Given the description of an element on the screen output the (x, y) to click on. 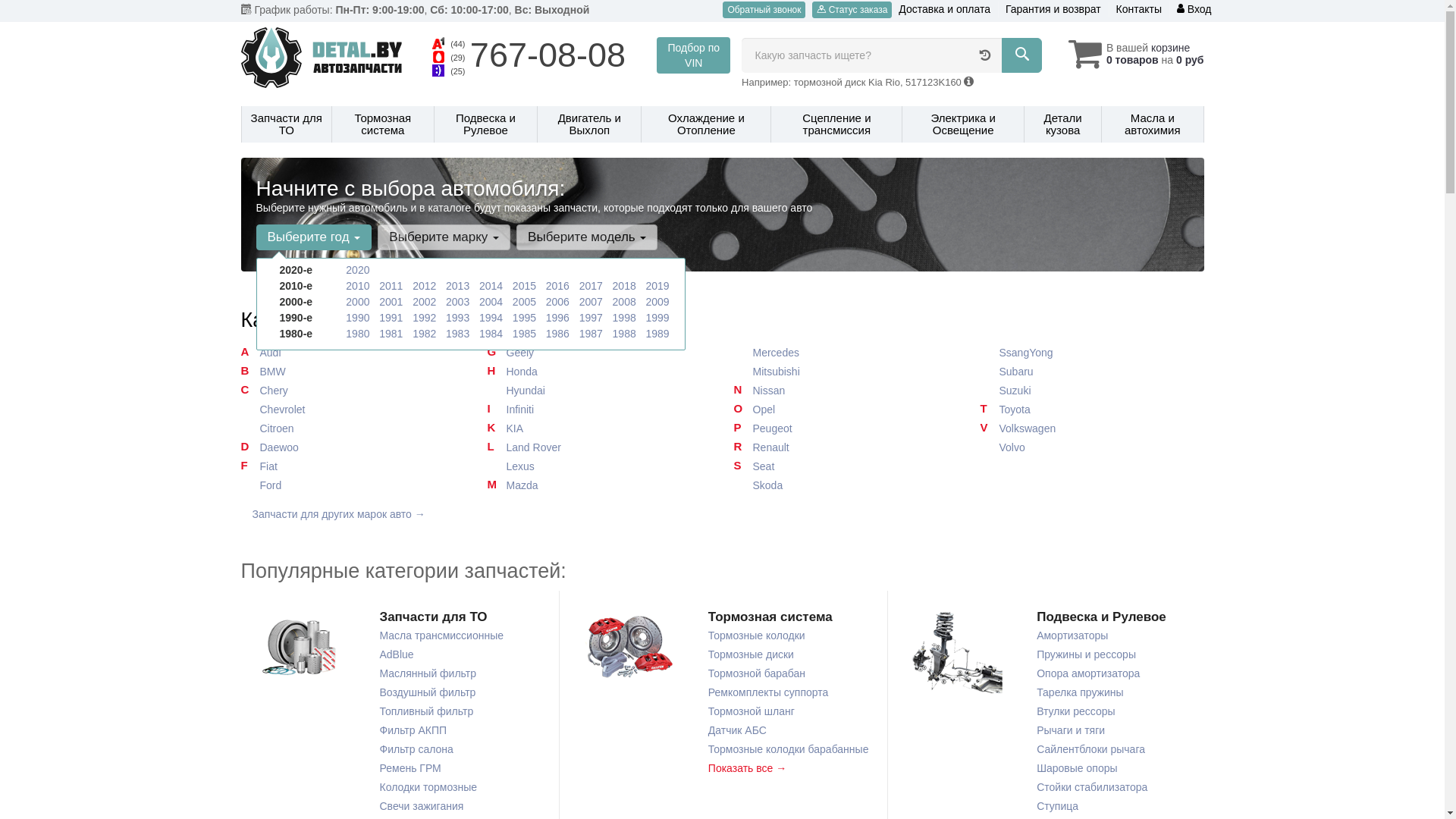
2013 Element type: text (457, 285)
2009 Element type: text (656, 301)
2010 Element type: text (357, 285)
Audi Element type: text (352, 352)
767-08-08 Element type: text (547, 54)
1999 Element type: text (656, 317)
AdBlue Element type: text (396, 654)
Citroen Element type: text (352, 428)
1991 Element type: text (390, 317)
Honda Element type: text (598, 371)
Geely Element type: text (598, 352)
1995 Element type: text (524, 317)
Infiniti Element type: text (598, 409)
BMW Element type: text (352, 371)
1990 Element type: text (357, 317)
1998 Element type: text (624, 317)
2014 Element type: text (490, 285)
2002 Element type: text (424, 301)
2017 Element type: text (590, 285)
Mitsubishi Element type: text (845, 371)
2019 Element type: text (656, 285)
2016 Element type: text (557, 285)
Volkswagen Element type: text (1091, 428)
1982 Element type: text (424, 333)
2006 Element type: text (557, 301)
Skoda Element type: text (845, 485)
Mazda Element type: text (598, 485)
2003 Element type: text (457, 301)
2000 Element type: text (357, 301)
Fiat Element type: text (352, 466)
Opel Element type: text (845, 409)
Hyundai Element type: text (598, 390)
2001 Element type: text (390, 301)
1983 Element type: text (457, 333)
1988 Element type: text (624, 333)
2007 Element type: text (590, 301)
2004 Element type: text (490, 301)
Renault Element type: text (845, 447)
1981 Element type: text (390, 333)
Suzuki Element type: text (1091, 390)
Nissan Element type: text (845, 390)
2008 Element type: text (624, 301)
1992 Element type: text (424, 317)
2015 Element type: text (524, 285)
1984 Element type: text (490, 333)
1986 Element type: text (557, 333)
1987 Element type: text (590, 333)
Volvo Element type: text (1091, 447)
1989 Element type: text (656, 333)
Lexus Element type: text (598, 466)
Mercedes Element type: text (845, 352)
1996 Element type: text (557, 317)
2011 Element type: text (390, 285)
2012 Element type: text (424, 285)
2018 Element type: text (624, 285)
Peugeot Element type: text (845, 428)
Seat Element type: text (845, 466)
1993 Element type: text (457, 317)
SsangYong Element type: text (1091, 352)
2020 Element type: text (357, 269)
Land Rover Element type: text (598, 447)
1980 Element type: text (357, 333)
Ford Element type: text (352, 485)
Subaru Element type: text (1091, 371)
1994 Element type: text (490, 317)
KIA Element type: text (598, 428)
1985 Element type: text (524, 333)
2005 Element type: text (524, 301)
Daewoo Element type: text (352, 447)
1997 Element type: text (590, 317)
Chevrolet Element type: text (352, 409)
Toyota Element type: text (1091, 409)
Chery Element type: text (352, 390)
